Given the description of an element on the screen output the (x, y) to click on. 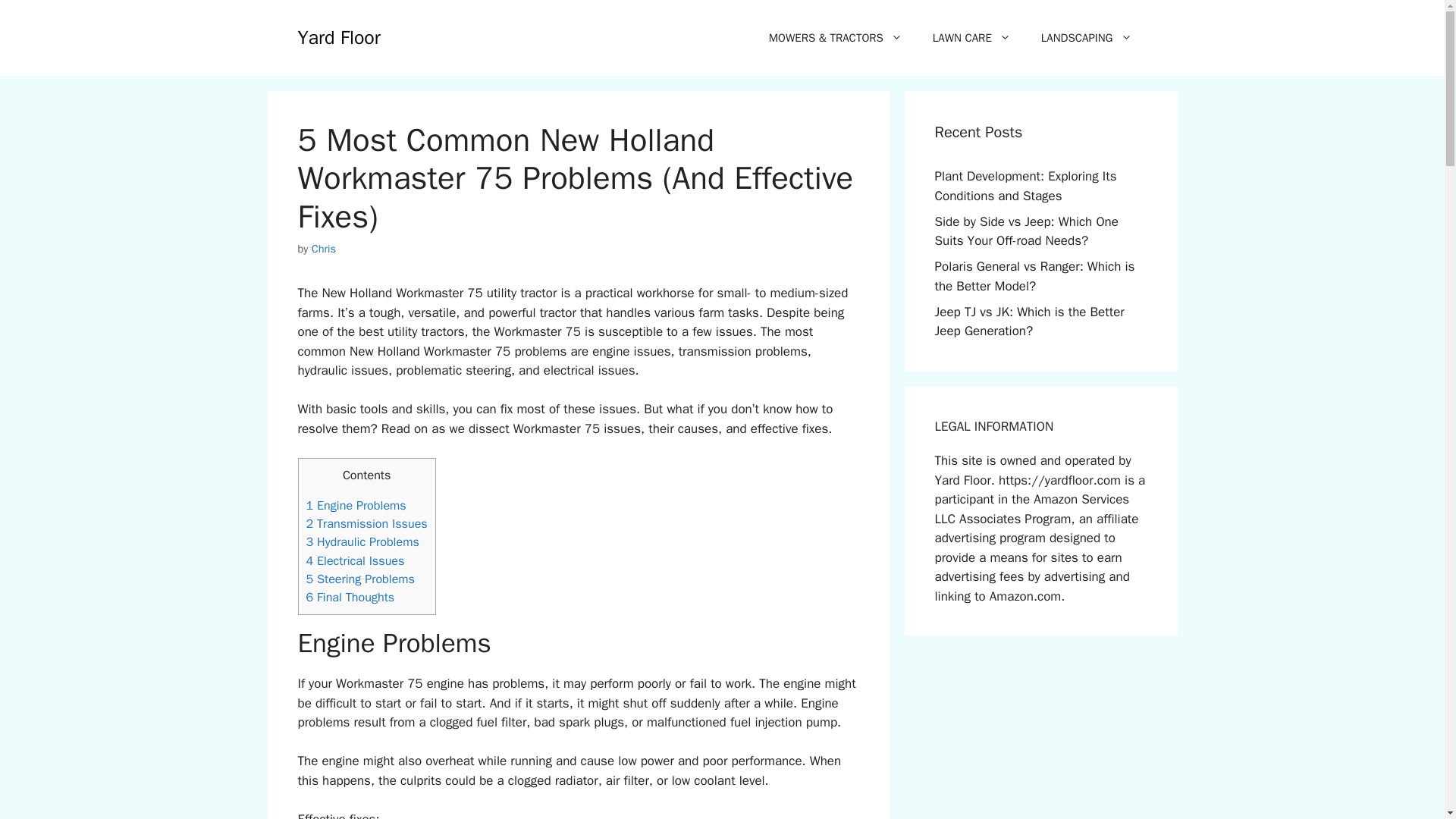
Plant Development: Exploring Its Conditions and Stages (1025, 185)
LANDSCAPING (1086, 37)
1 Engine Problems (355, 505)
2 Transmission Issues (366, 523)
View all posts by Chris (323, 248)
Yard Floor (338, 37)
Chris (323, 248)
5 Steering Problems (359, 578)
3 Hydraulic Problems (362, 541)
6 Final Thoughts (349, 596)
